Given the description of an element on the screen output the (x, y) to click on. 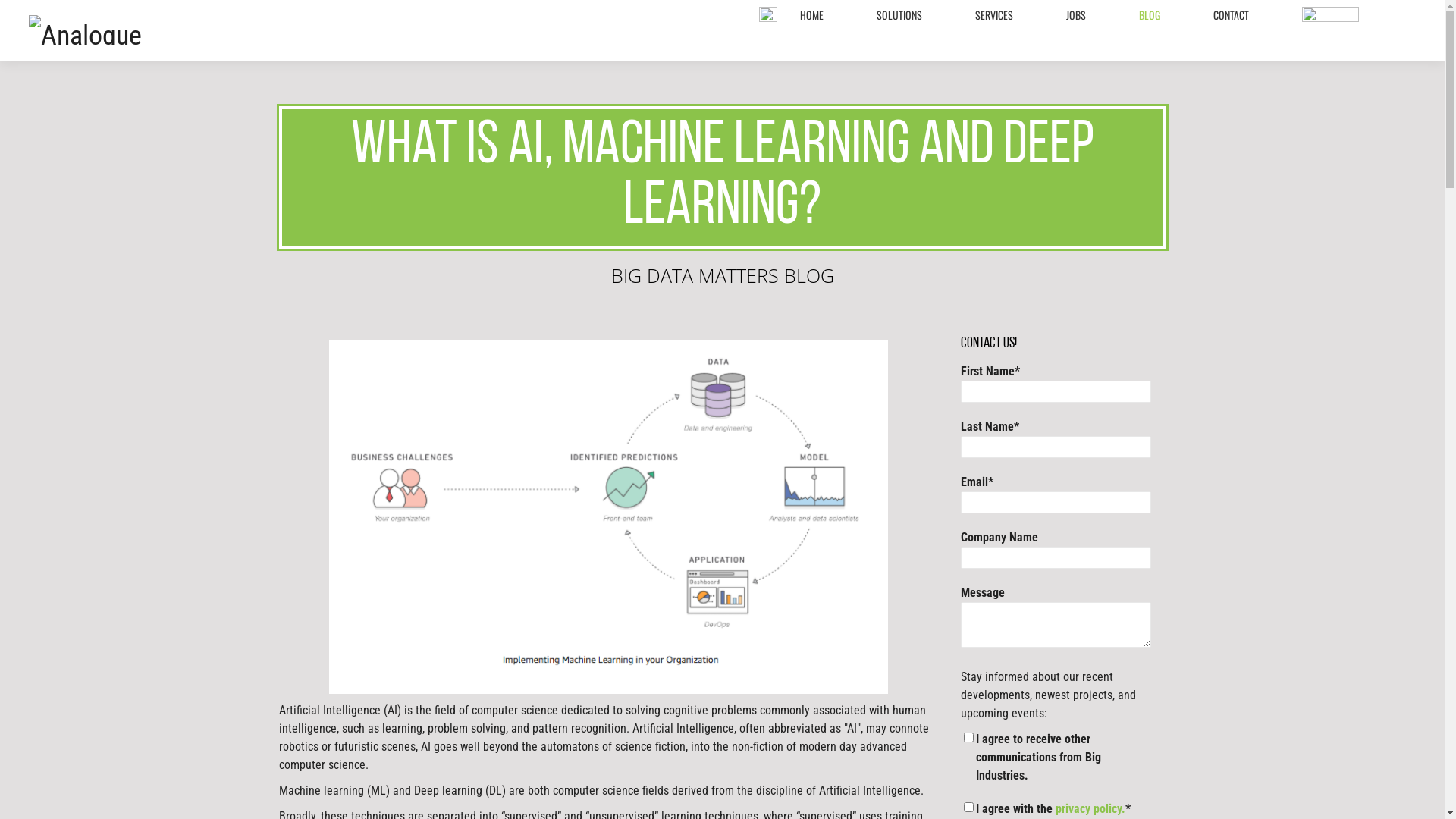
SOLUTIONS Element type: text (899, 13)
HOME Element type: text (811, 13)
JOBS Element type: text (1075, 13)
CONTACT Element type: text (1230, 13)
SERVICES Element type: text (994, 13)
Search Element type: text (21, 7)
privacy policy. Element type: text (1090, 808)
BLOG Element type: text (1149, 13)
